Given the description of an element on the screen output the (x, y) to click on. 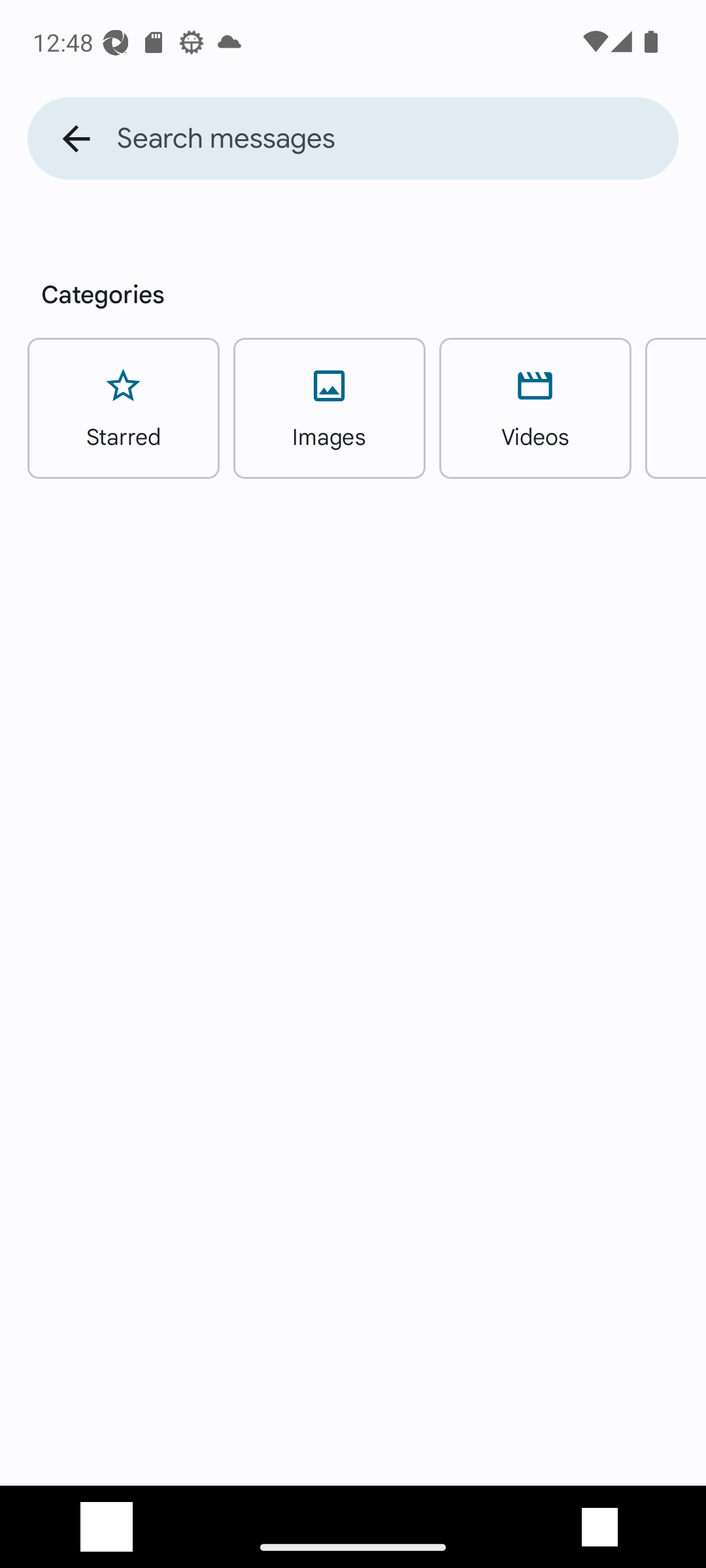
Go back (75, 138)
Search messages (397, 138)
Starred (123, 407)
Images (329, 407)
Videos (535, 407)
